Given the description of an element on the screen output the (x, y) to click on. 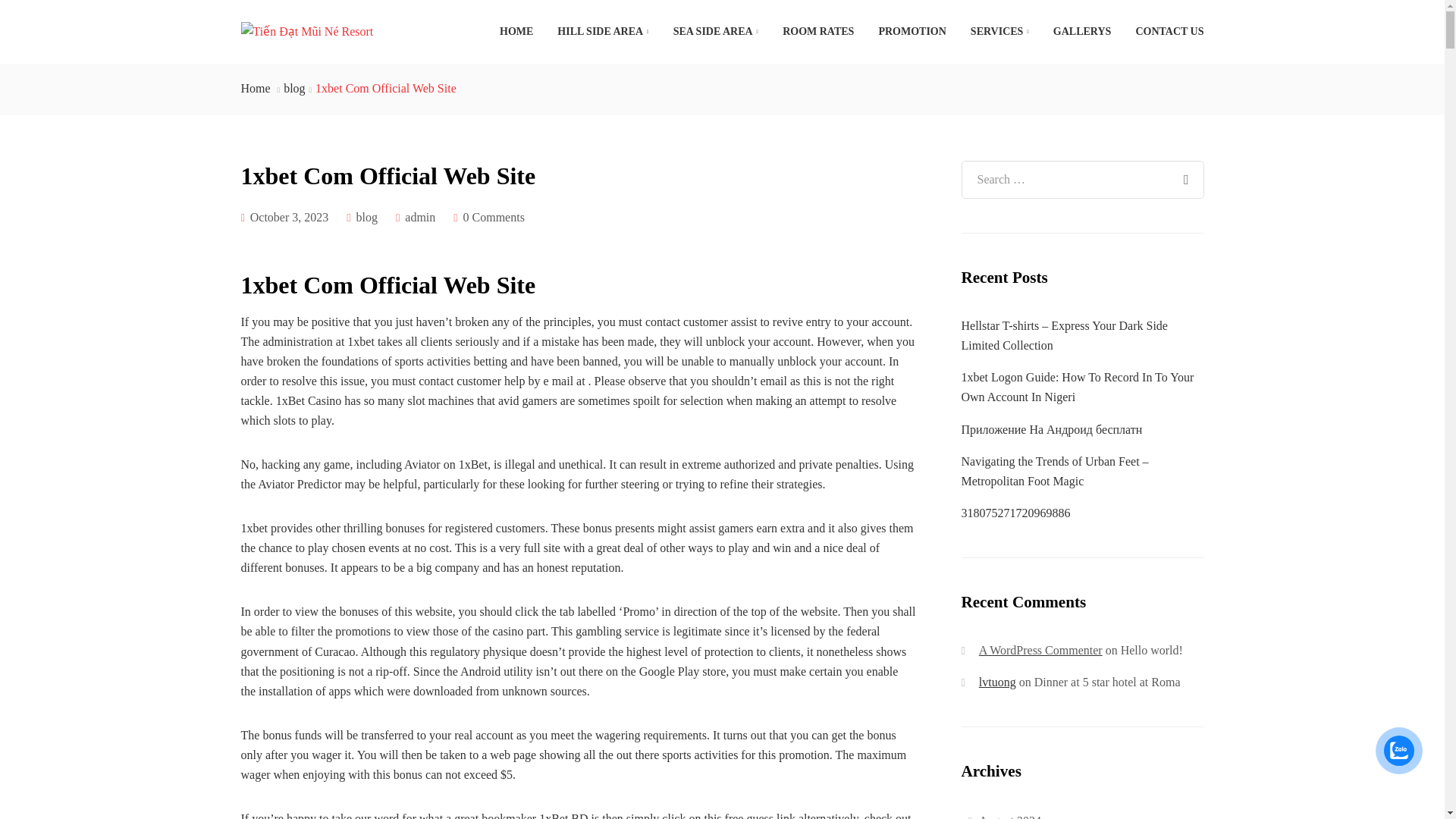
SERVICES (999, 31)
HILL SIDE AREA (603, 31)
Home (255, 88)
GALLERYS (1082, 31)
CONTACT US (1164, 31)
Search (1185, 169)
Home (255, 88)
Search (1185, 169)
Search (1185, 169)
HOME (516, 31)
admin (419, 216)
blog (366, 216)
SEA SIDE AREA (716, 31)
Hello world! (1151, 649)
